Given the description of an element on the screen output the (x, y) to click on. 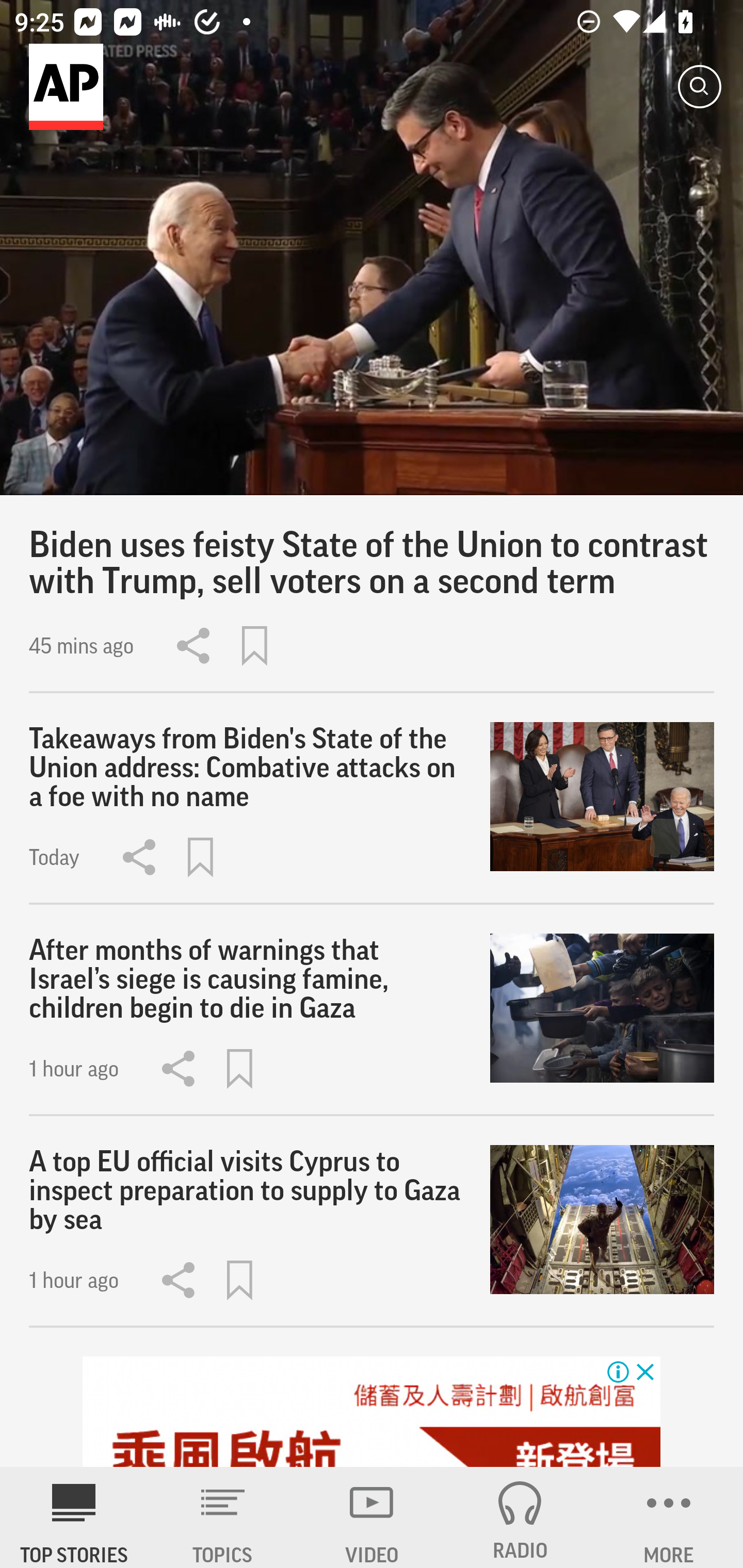
AP News TOP STORIES (74, 1517)
TOPICS (222, 1517)
VIDEO (371, 1517)
RADIO (519, 1517)
MORE (668, 1517)
